Given the description of an element on the screen output the (x, y) to click on. 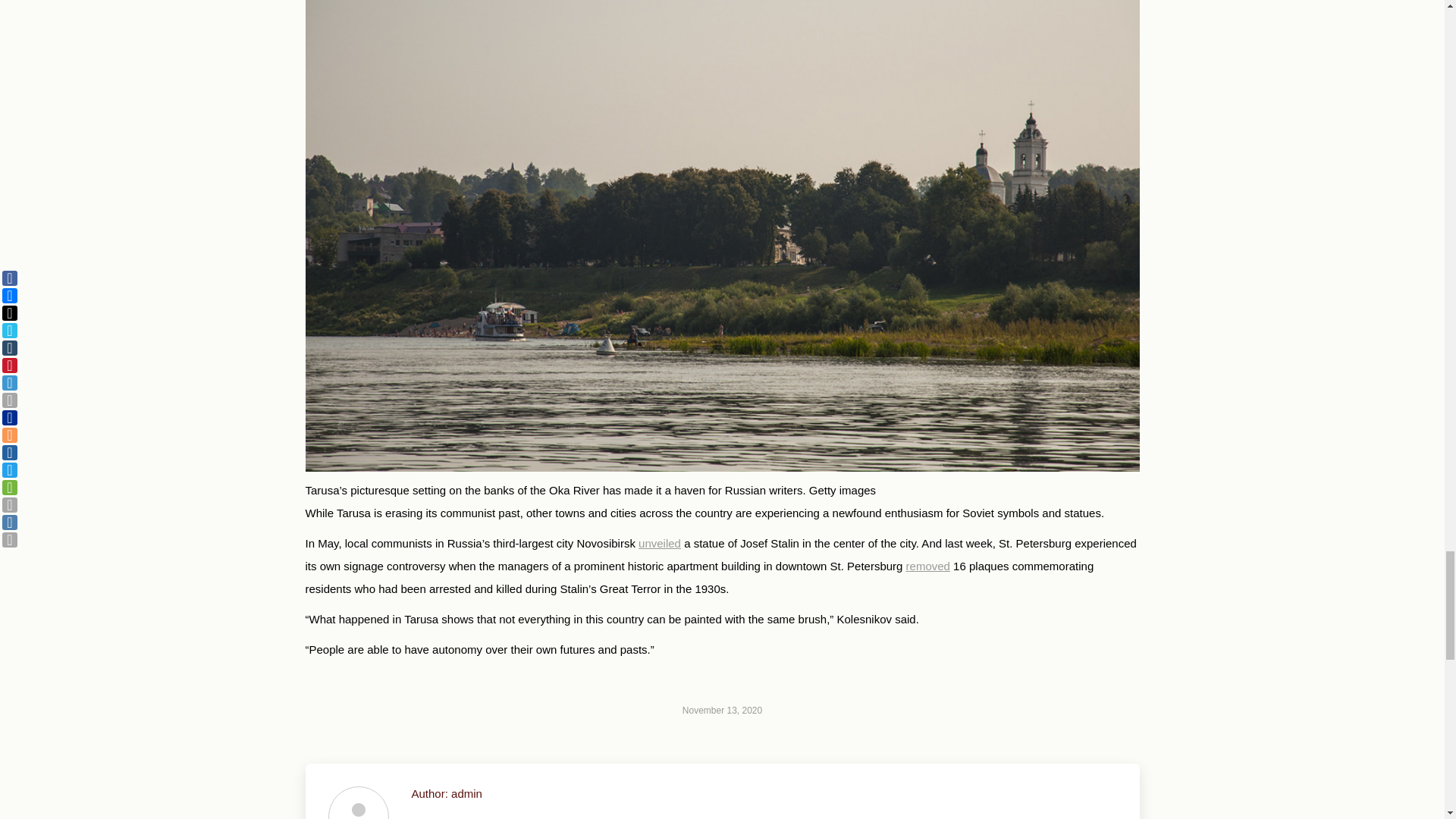
removed (927, 565)
November 13, 2020 (721, 710)
11:37 am (721, 710)
unveiled (660, 543)
